Given the description of an element on the screen output the (x, y) to click on. 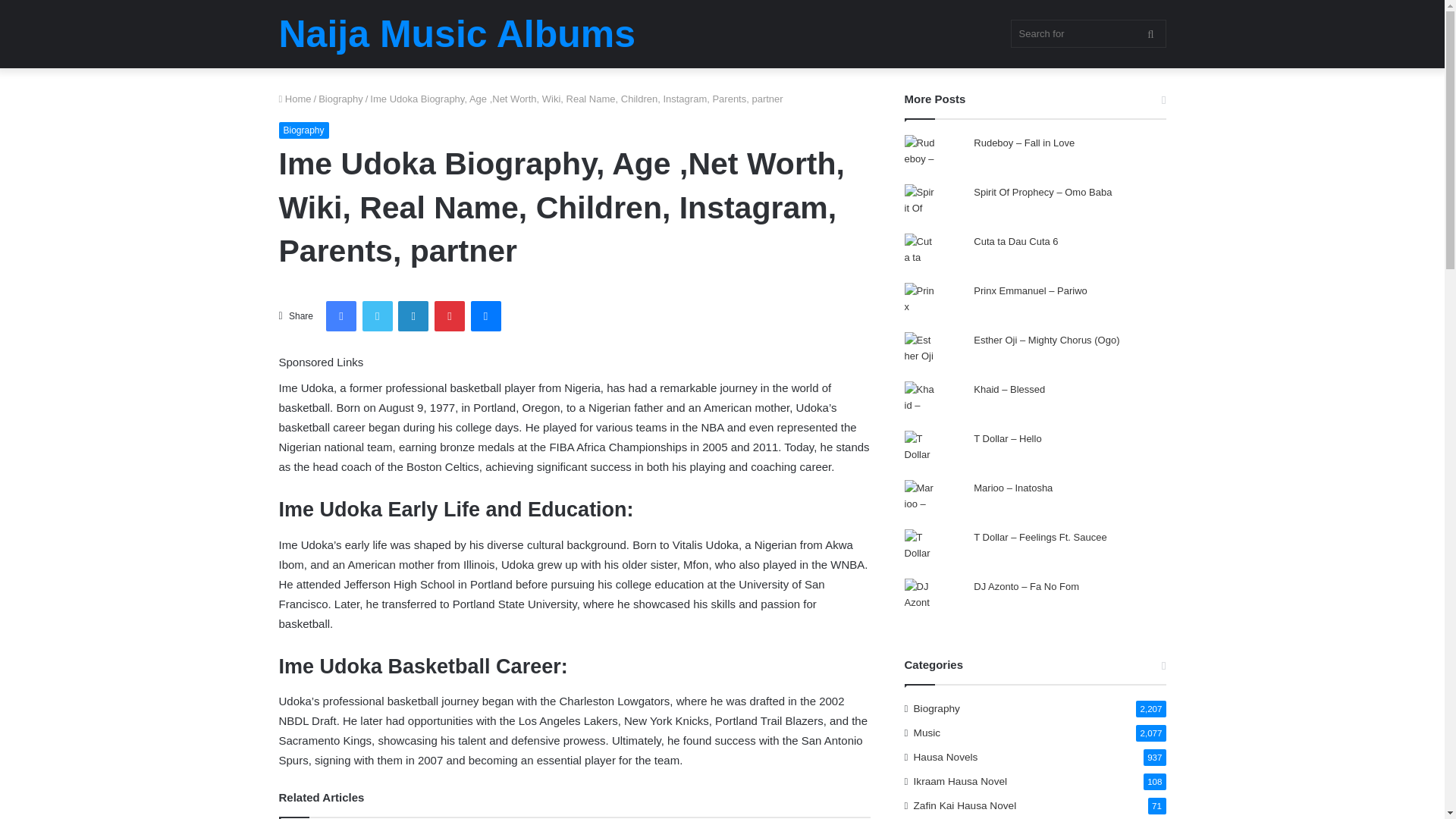
Search for (1088, 33)
Home (295, 98)
Biography (304, 130)
Naija Music Albums (456, 34)
Pinterest (448, 316)
Messenger (485, 316)
LinkedIn (412, 316)
Twitter (377, 316)
Facebook (341, 316)
Twitter (377, 316)
